Given the description of an element on the screen output the (x, y) to click on. 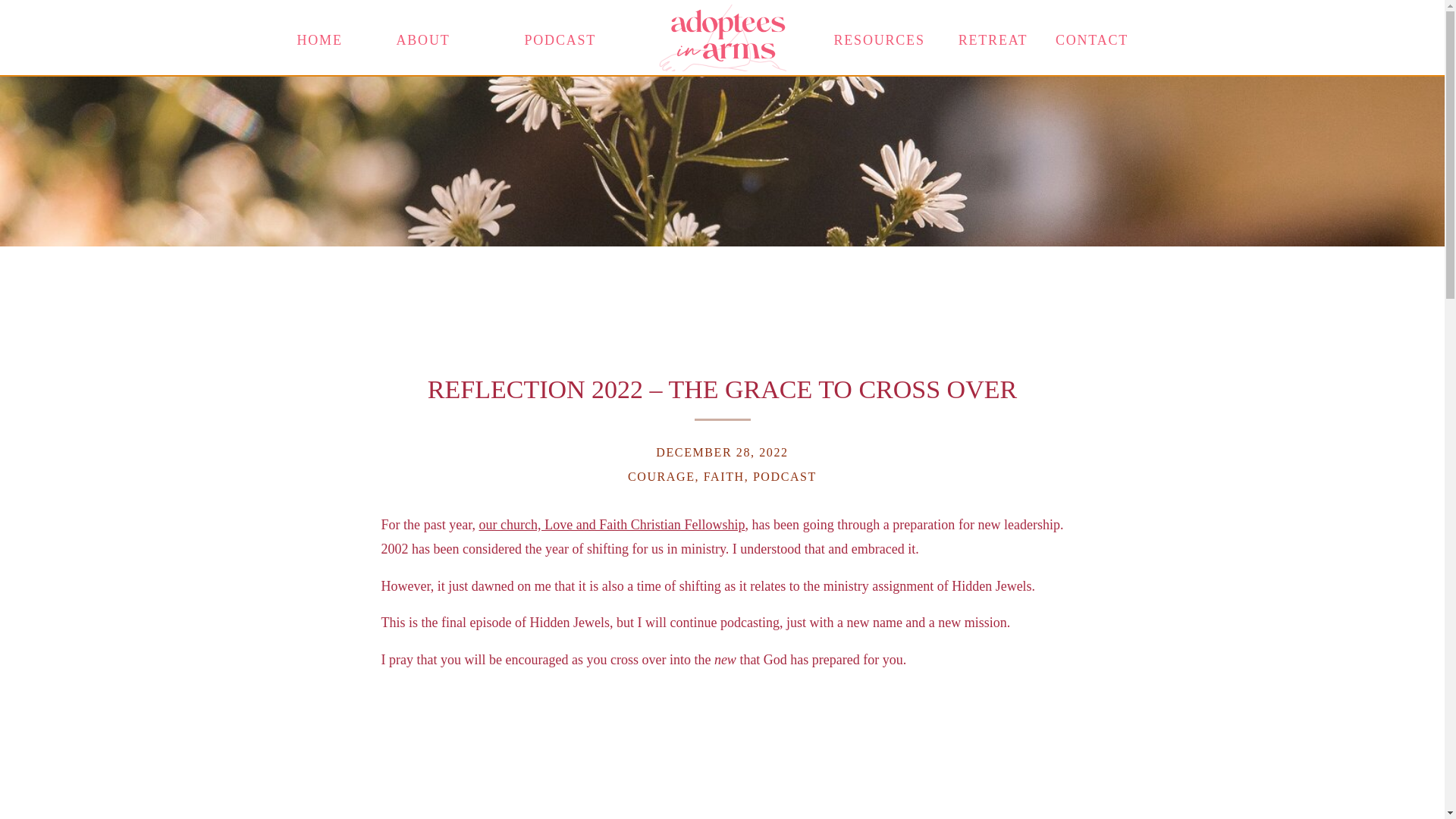
RESOURCES (860, 37)
RETREAT (992, 39)
ABOUT (420, 37)
our church, Love and Faith Christian Fellowship (612, 524)
COURAGE (661, 476)
FAITH (723, 476)
PODCAST (784, 476)
CONTACT (1091, 37)
HOME (319, 37)
PODCAST (544, 37)
